Given the description of an element on the screen output the (x, y) to click on. 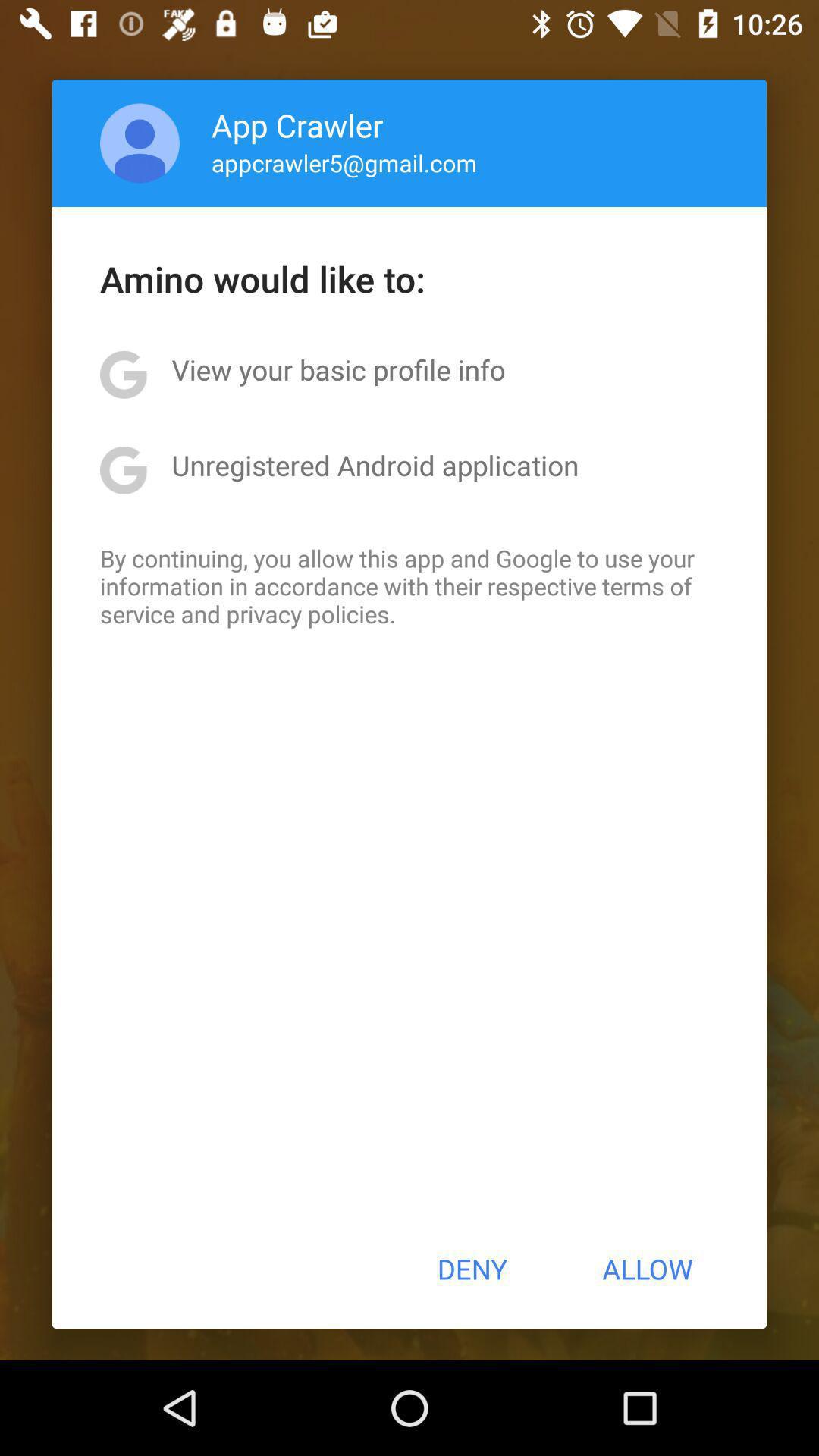
select the app above the appcrawler5@gmail.com app (297, 124)
